Given the description of an element on the screen output the (x, y) to click on. 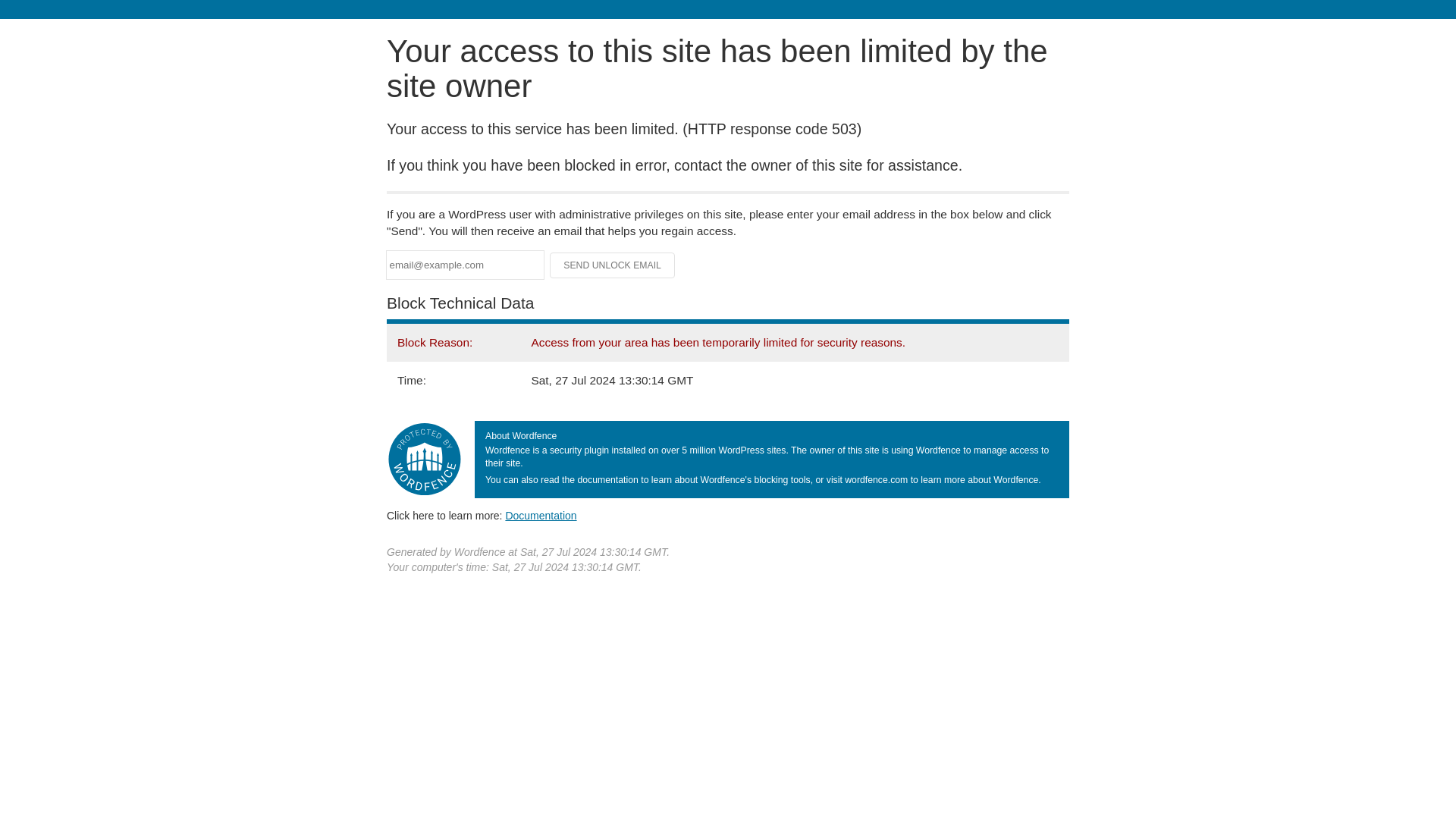
Documentation (540, 515)
Send Unlock Email (612, 265)
Send Unlock Email (612, 265)
